Given the description of an element on the screen output the (x, y) to click on. 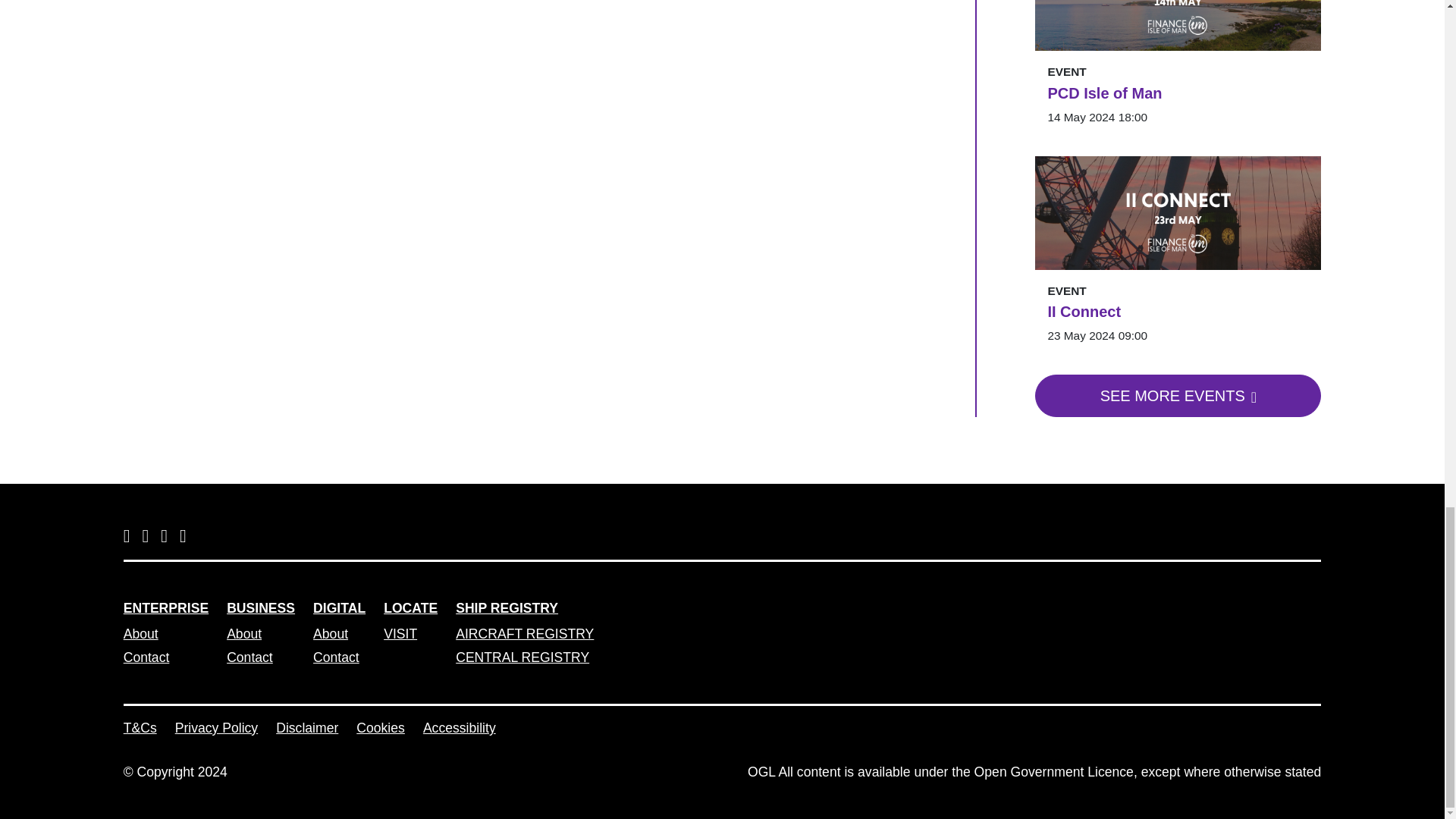
PCD Isle of Man (1177, 93)
II Connect (1177, 311)
SEE MORE EVENTS (1177, 395)
